Given the description of an element on the screen output the (x, y) to click on. 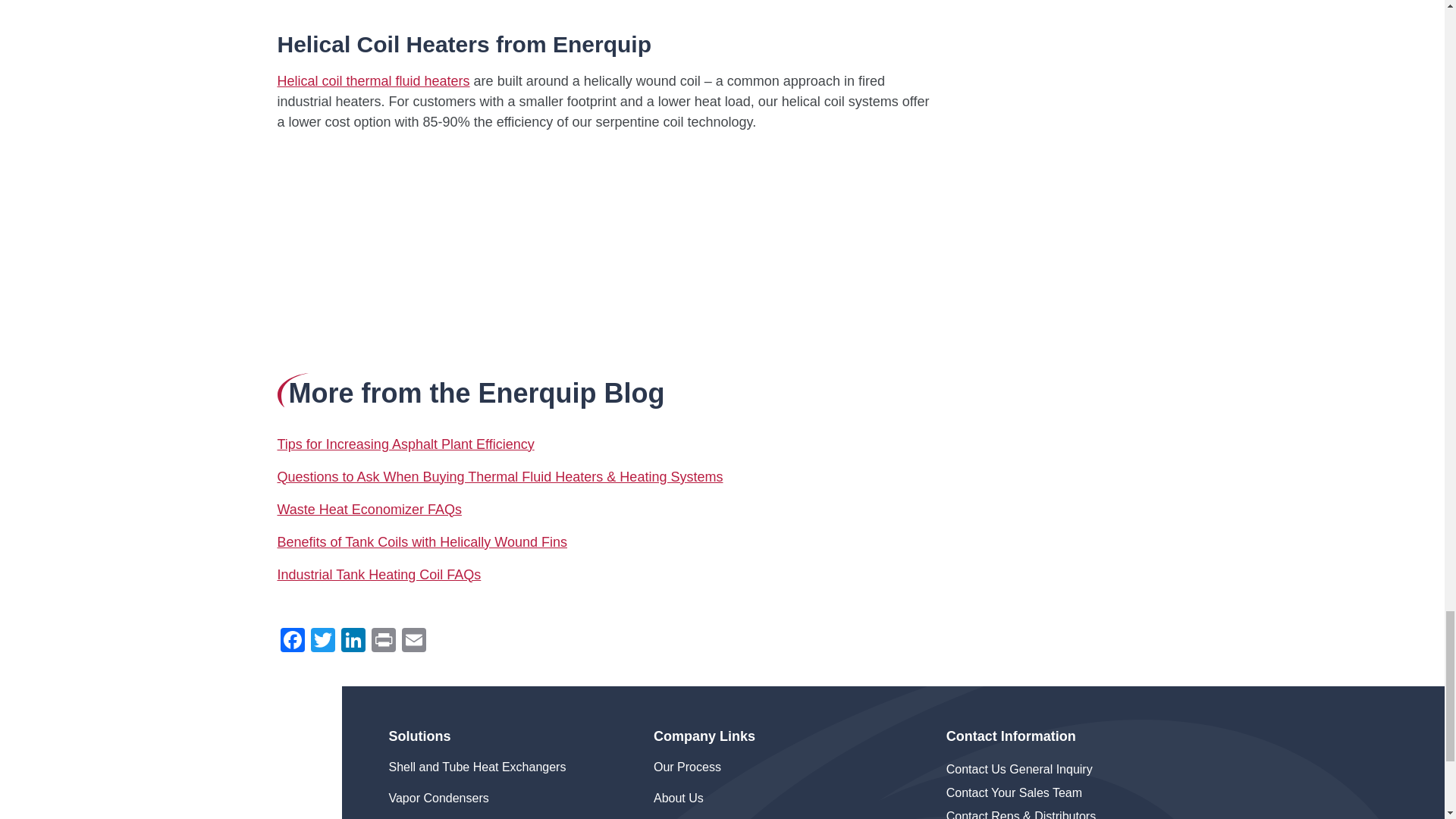
Helical Coil Thermal Fluid Heater - Enerquip (467, 250)
Expansion Tanks - Enerquip (467, 6)
